Given the description of an element on the screen output the (x, y) to click on. 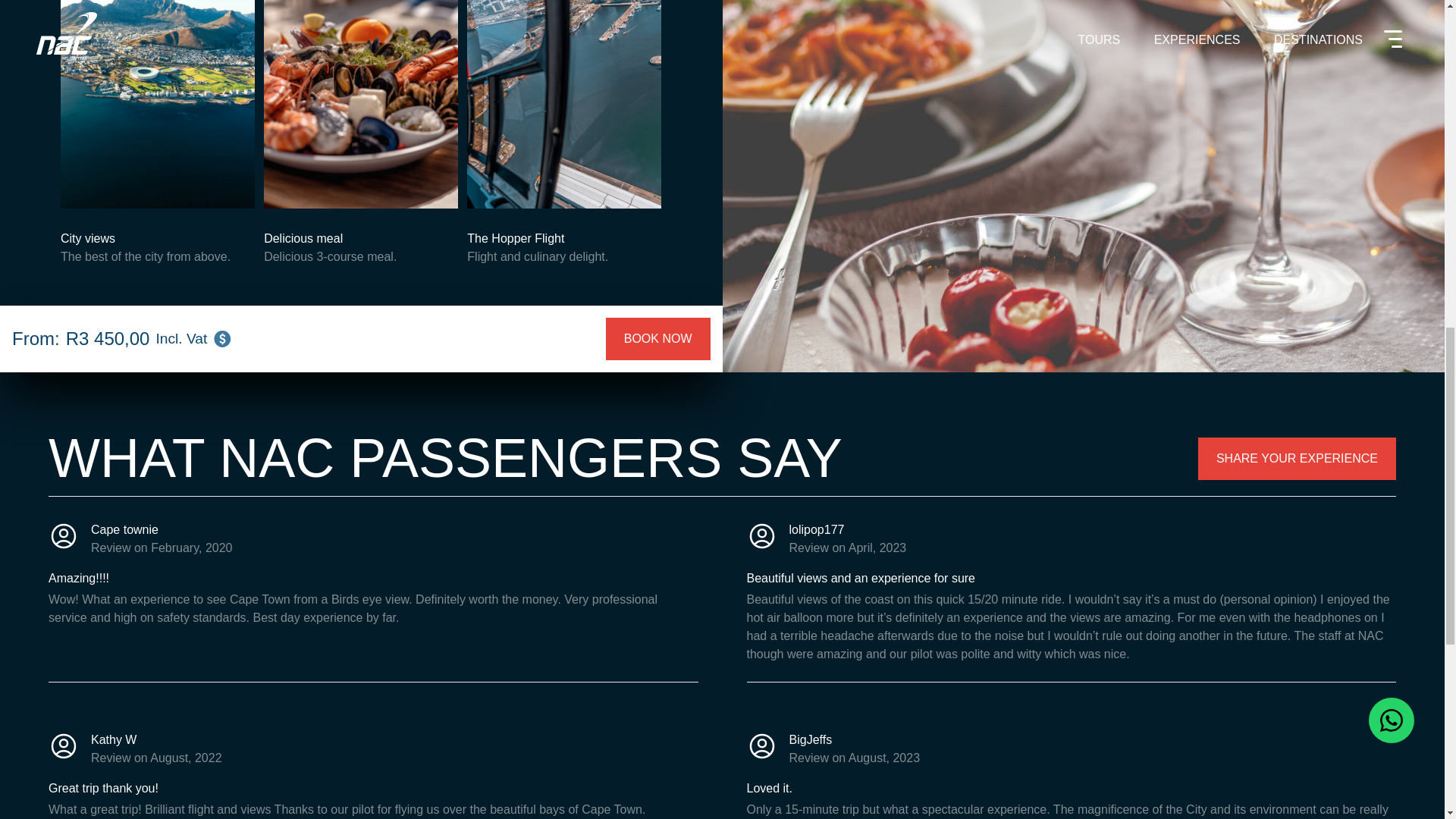
SHARE YOUR EXPERIENCE (1297, 458)
